Given the description of an element on the screen output the (x, y) to click on. 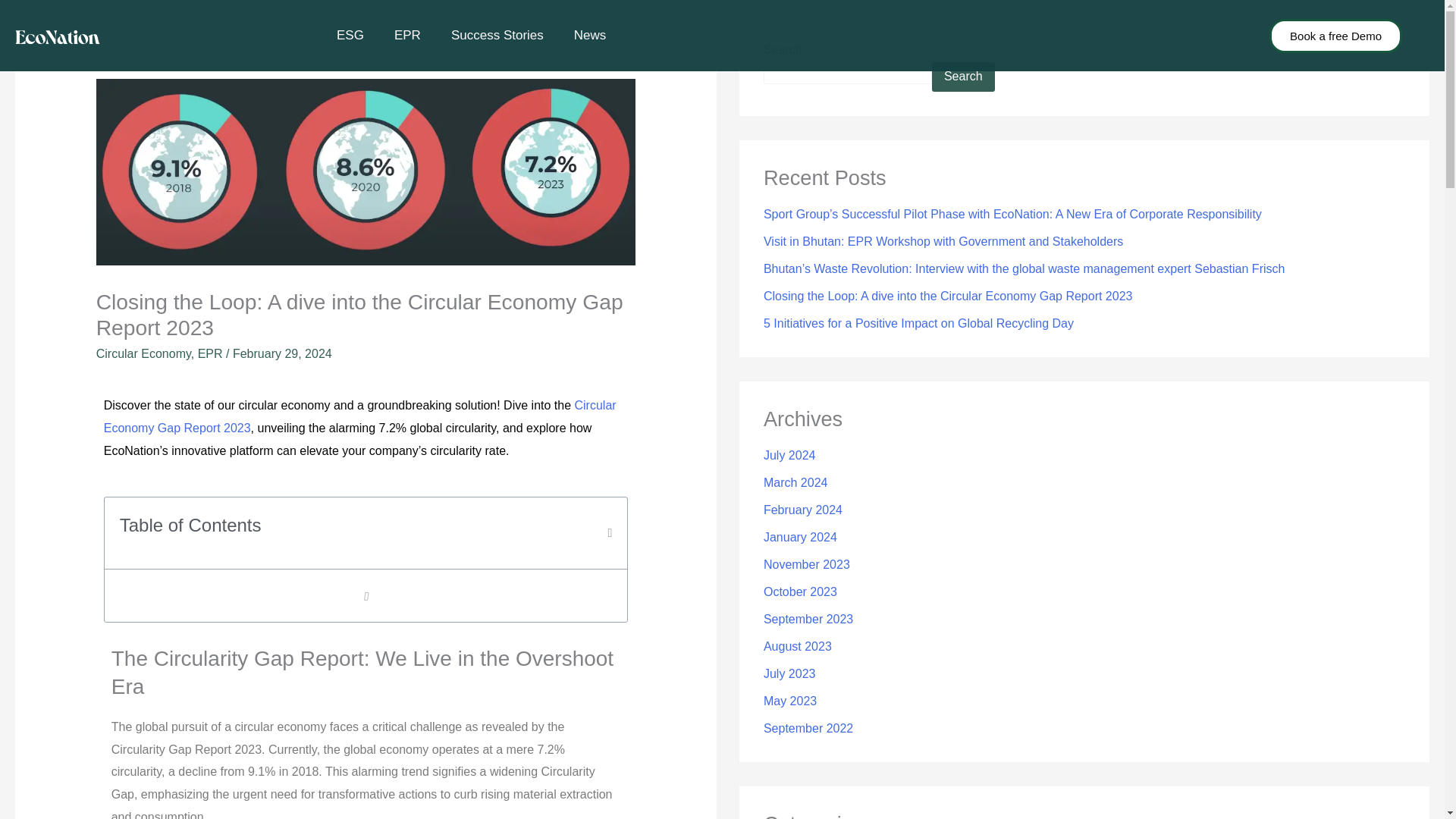
July 2023 (788, 673)
August 2023 (796, 645)
July 2024 (788, 454)
November 2023 (806, 563)
September 2023 (807, 618)
Search (962, 76)
Book a free Demo (1335, 35)
Circular Economy (143, 353)
5 Initiatives for a Positive Impact on Global Recycling Day (918, 323)
EPR (406, 35)
EPR (210, 353)
Success Stories (497, 35)
News (590, 35)
ESG (349, 35)
